Given the description of an element on the screen output the (x, y) to click on. 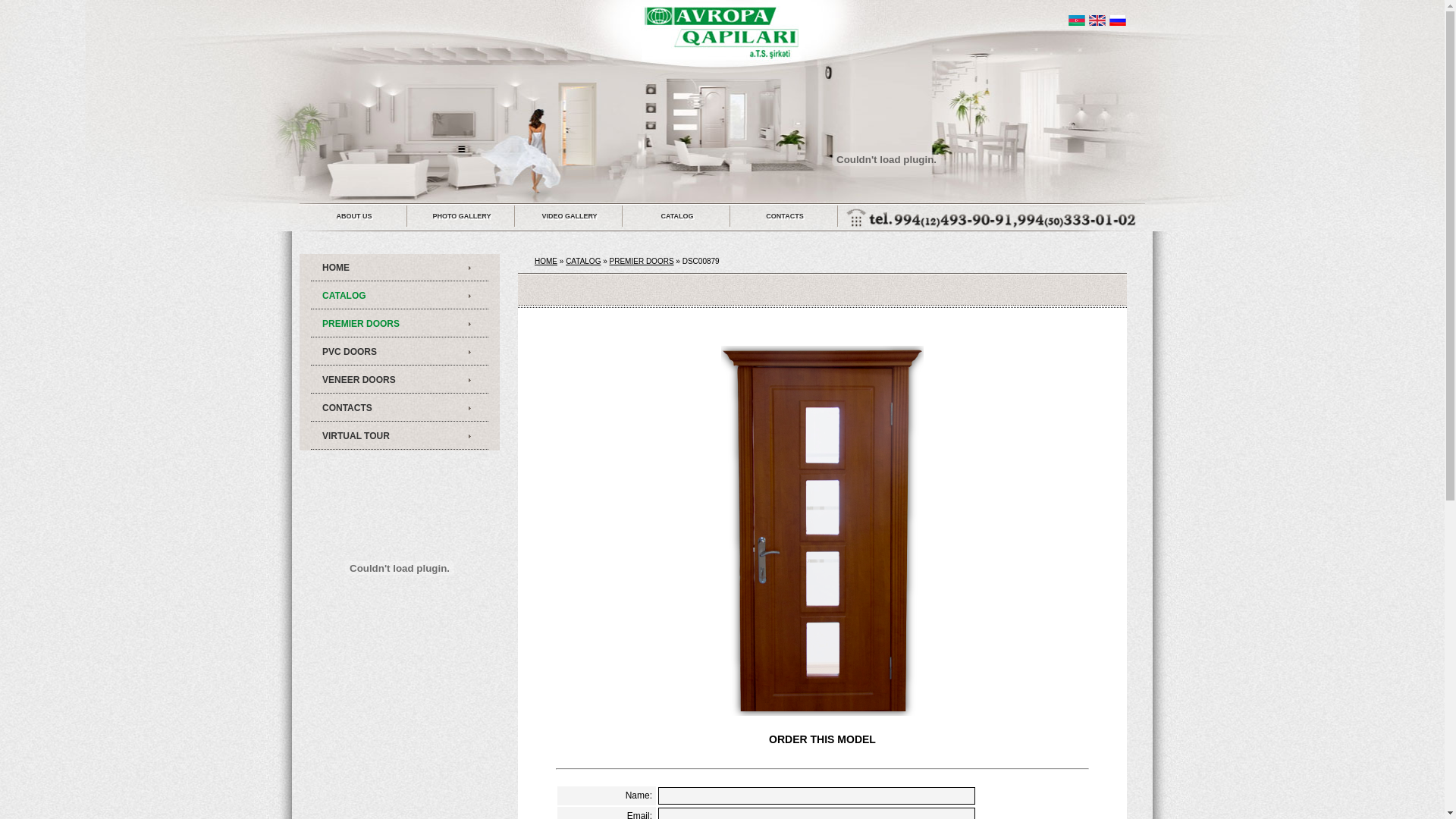
PVC DOORS Element type: text (399, 351)
CATALOG Element type: text (582, 261)
PHOTO GALLERY Element type: text (461, 215)
PREMIER DOORS Element type: text (641, 261)
VIRTUAL TOUR Element type: text (399, 436)
PREMIER DOORS Element type: text (399, 323)
CATALOG Element type: text (676, 215)
VIDEO GALLERY Element type: text (569, 215)
HOME Element type: text (545, 261)
CATALOG Element type: text (399, 295)
VENEER DOORS Element type: text (399, 380)
HOME Element type: text (399, 267)
ABOUT US Element type: text (353, 215)
CONTACTS Element type: text (784, 215)
CONTACTS Element type: text (399, 408)
